Given the description of an element on the screen output the (x, y) to click on. 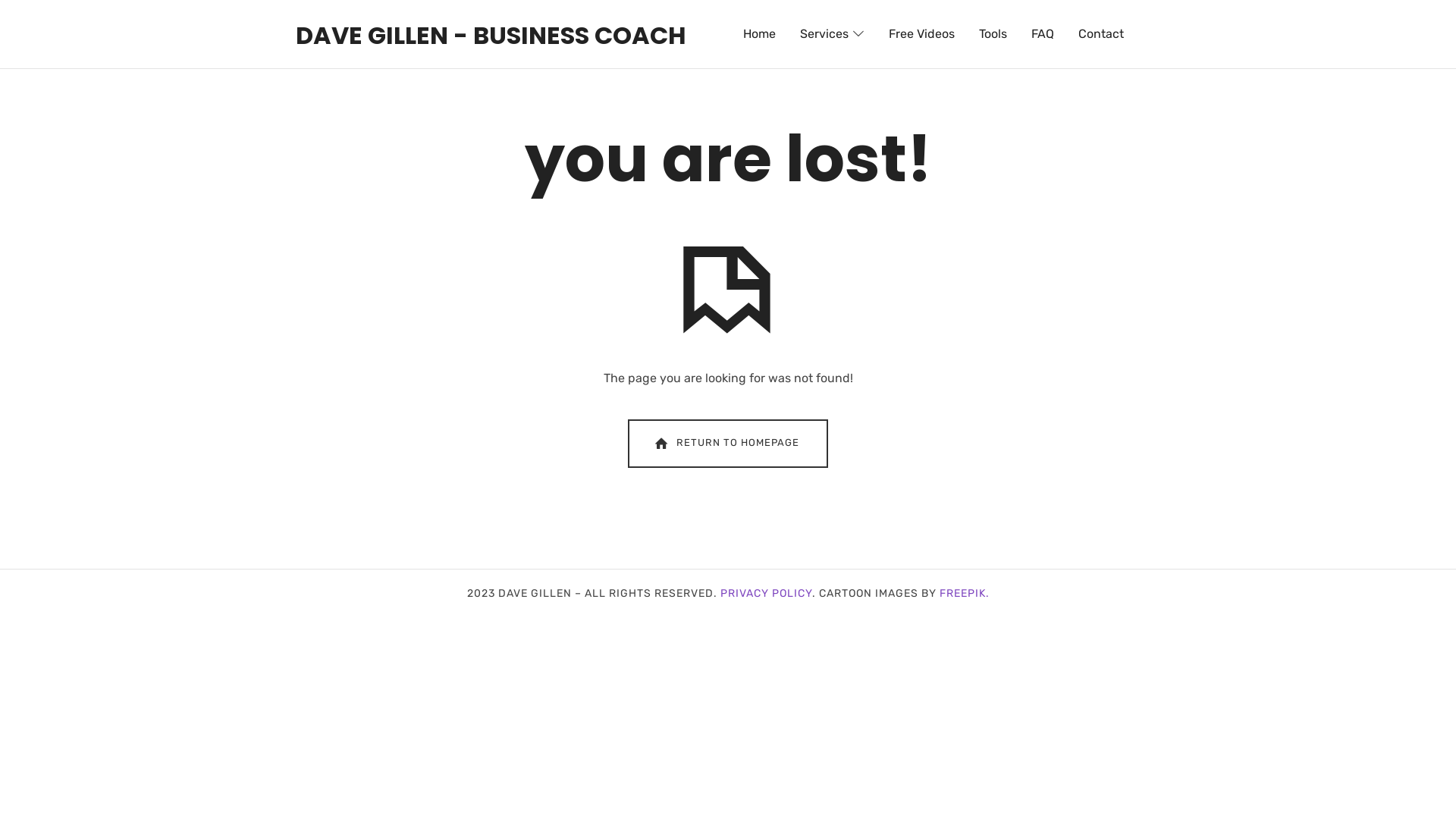
Home Element type: text (759, 34)
Contact Element type: text (1100, 34)
FAQ Element type: text (1042, 34)
DAVE GILLEN - BUSINESS COACH
DAVE GILLEN - BUSINESS COACH Element type: text (490, 34)
RETURN TO HOMEPAGE Element type: text (727, 443)
Services Element type: text (831, 34)
PRIVACY POLICY Element type: text (766, 592)
Tools Element type: text (992, 34)
FREEPIK. Element type: text (963, 592)
Free Videos Element type: text (921, 34)
